Given the description of an element on the screen output the (x, y) to click on. 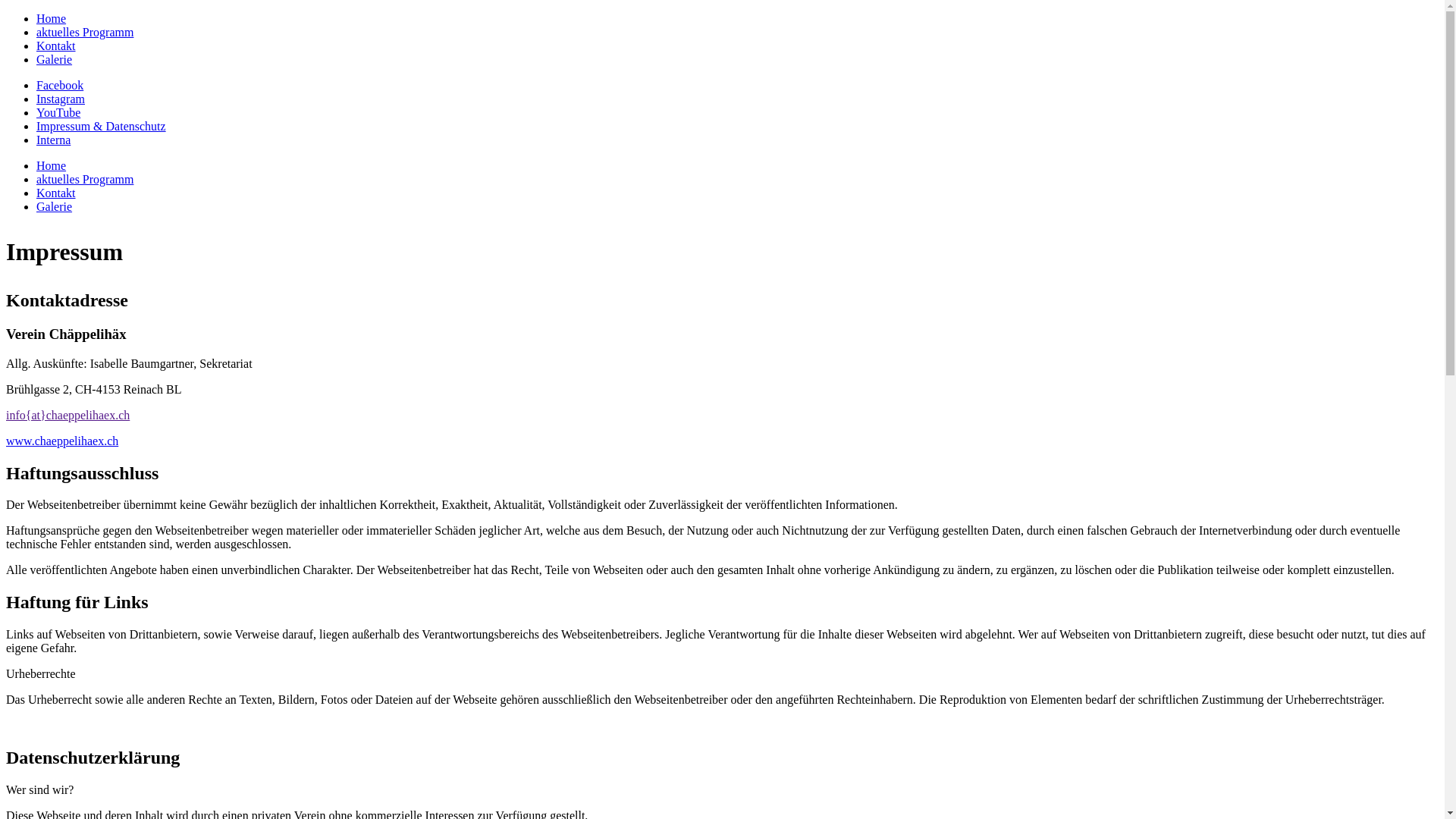
Home Element type: text (50, 18)
Impressum & Datenschutz Element type: text (101, 125)
aktuelles Programm Element type: text (84, 31)
YouTube Element type: text (58, 112)
Interna Element type: text (53, 139)
Home Element type: text (50, 165)
www.chaeppelihaex.ch Element type: text (62, 440)
aktuelles Programm Element type: text (84, 178)
Galerie Element type: text (54, 59)
Kontakt Element type: text (55, 192)
Instagram Element type: text (60, 98)
Galerie Element type: text (54, 206)
Kontakt Element type: text (55, 45)
Facebook Element type: text (59, 84)
